Given the description of an element on the screen output the (x, y) to click on. 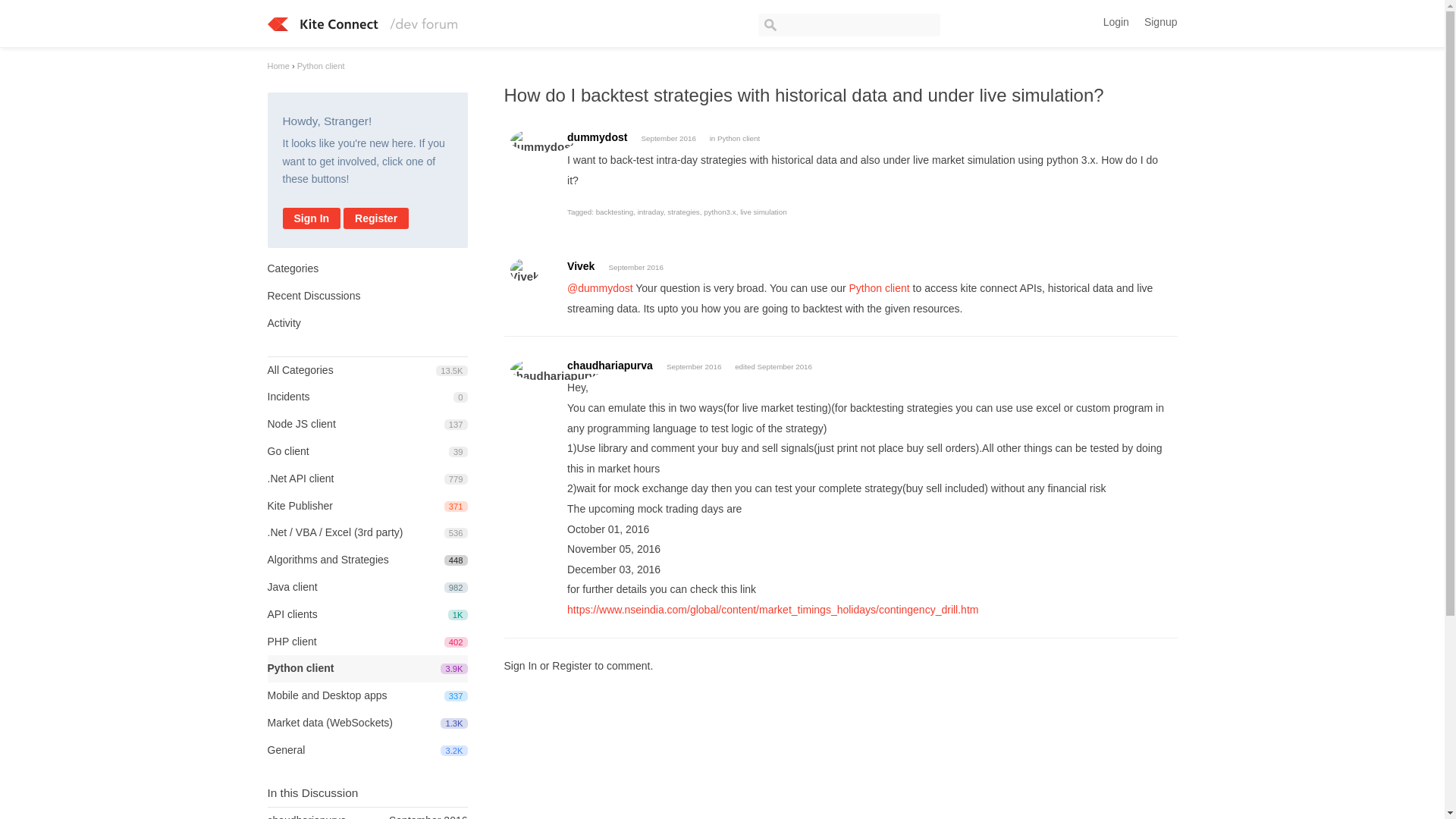
Sign In (326, 695)
dummydost (311, 218)
Activity (541, 140)
python3.x (282, 322)
Login (719, 212)
337 discussions (1116, 21)
September 2016 (455, 696)
Vivek (667, 138)
dummydost (291, 586)
137 discussions (523, 269)
strategies (597, 137)
